Given the description of an element on the screen output the (x, y) to click on. 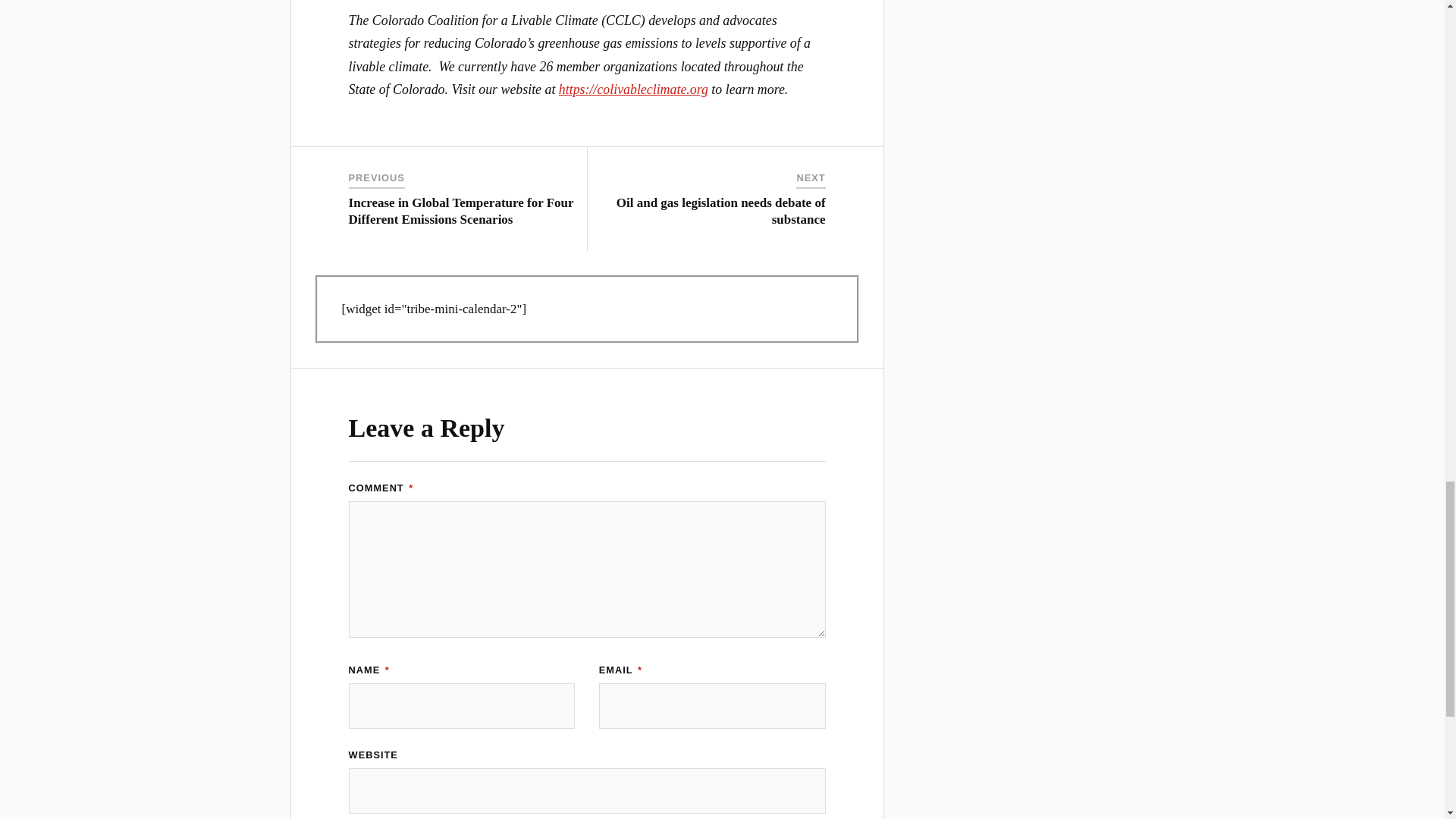
Oil and gas legislation needs debate of substance (720, 210)
Next post: Oil and gas legislation needs debate of substance (720, 210)
